Given the description of an element on the screen output the (x, y) to click on. 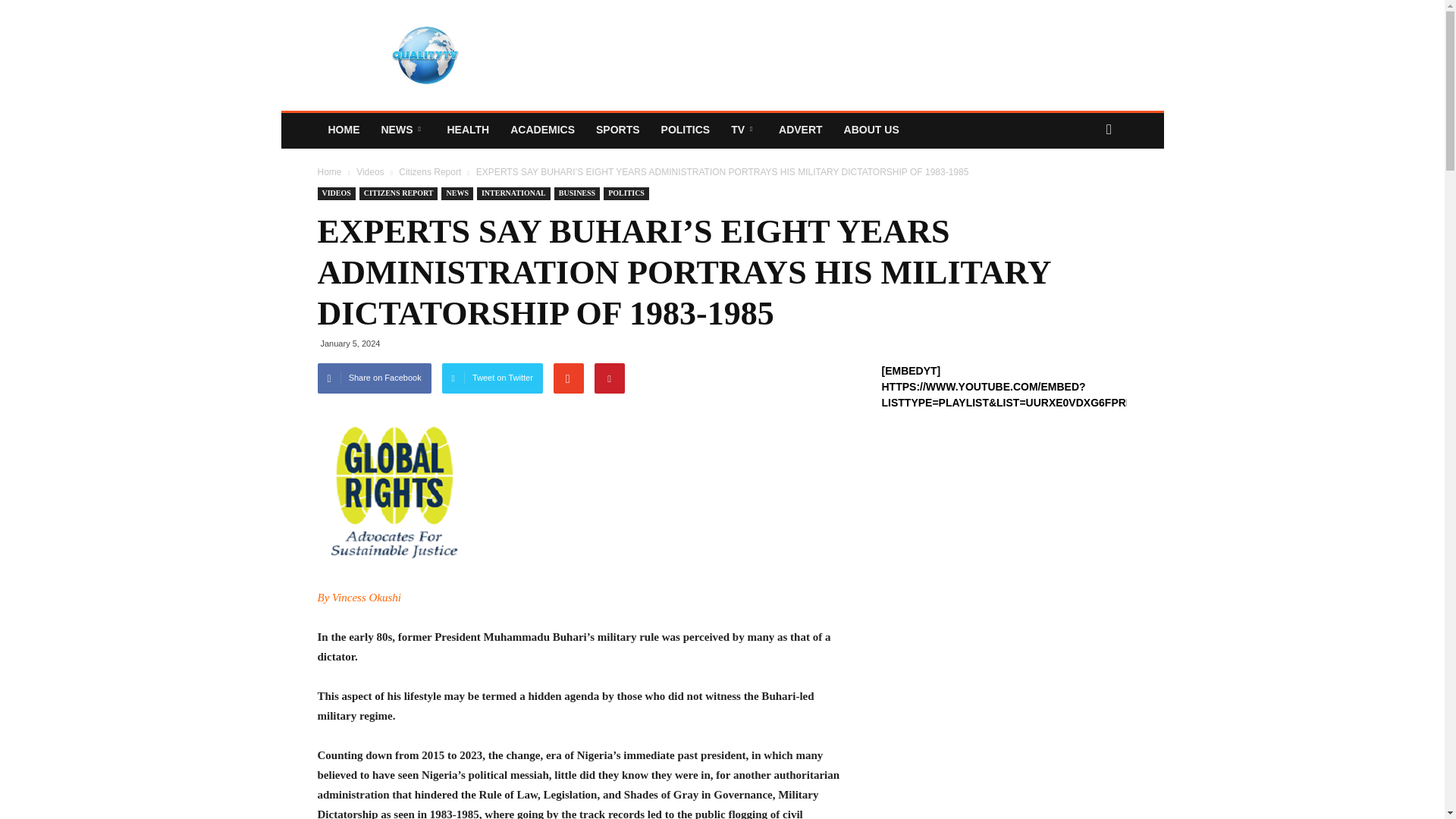
View all posts in Videos (371, 172)
View all posts in Citizens Report (430, 172)
Global-Rights (392, 492)
